Given the description of an element on the screen output the (x, y) to click on. 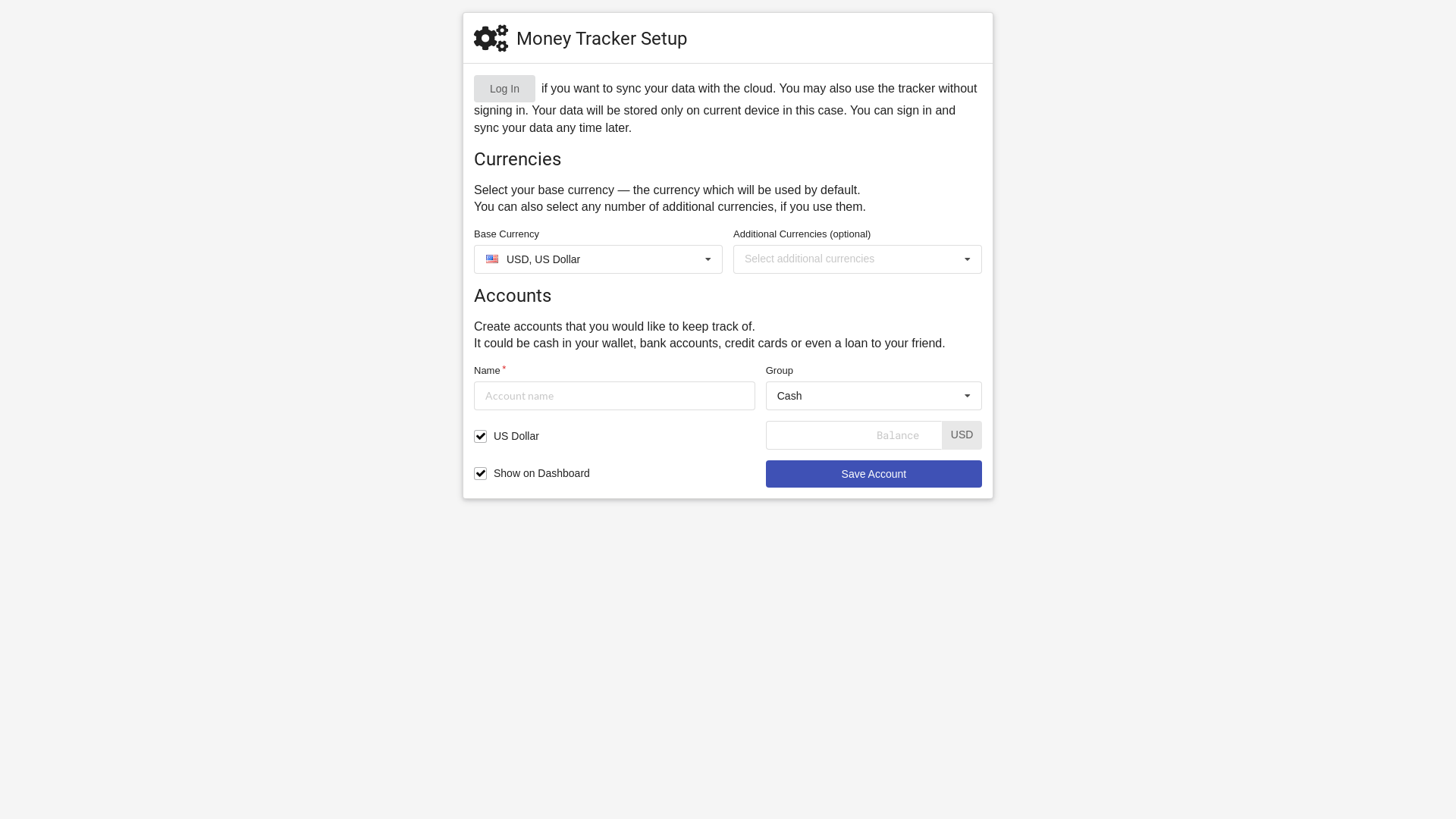
Log In Element type: text (504, 88)
Save Account Element type: text (873, 473)
